Given the description of an element on the screen output the (x, y) to click on. 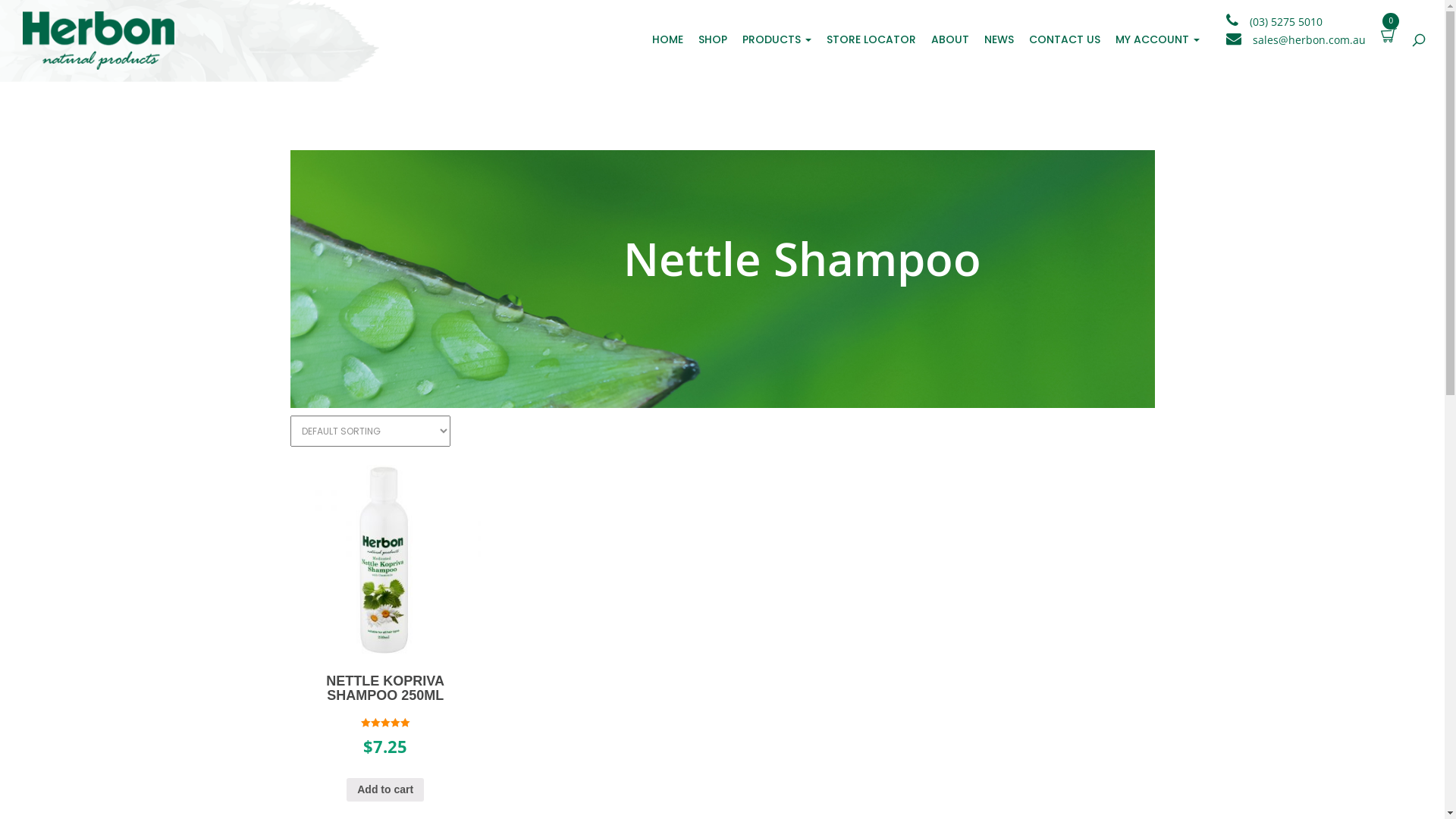
NETTLE KOPRIVA SHAMPOO 250ML
Rated
out of 5
$7.25 Element type: text (384, 629)
(03) 5275 5010 Element type: text (1285, 21)
NEWS Element type: text (998, 39)
SHOP Element type: text (712, 39)
MY ACCOUNT Element type: text (1157, 39)
CONTACT US Element type: text (1064, 39)
ABOUT Element type: text (949, 39)
STORE LOCATOR Element type: text (871, 39)
sales@herbon.com.au Element type: text (1308, 39)
Add to cart Element type: text (384, 789)
0 Element type: text (1388, 34)
HOME Element type: text (667, 39)
PRODUCTS Element type: text (776, 39)
